Given the description of an element on the screen output the (x, y) to click on. 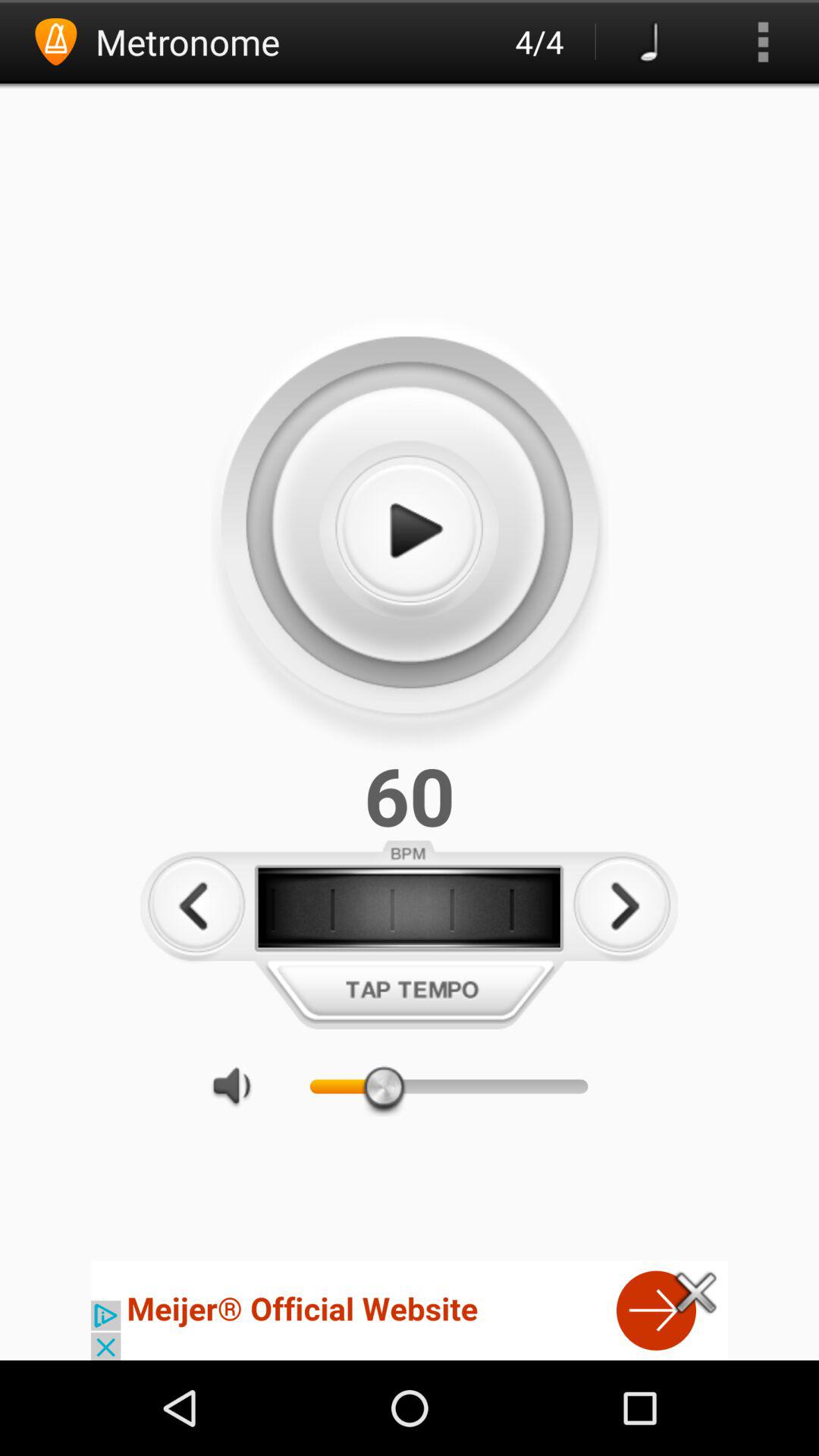
go to next (621, 906)
